Given the description of an element on the screen output the (x, y) to click on. 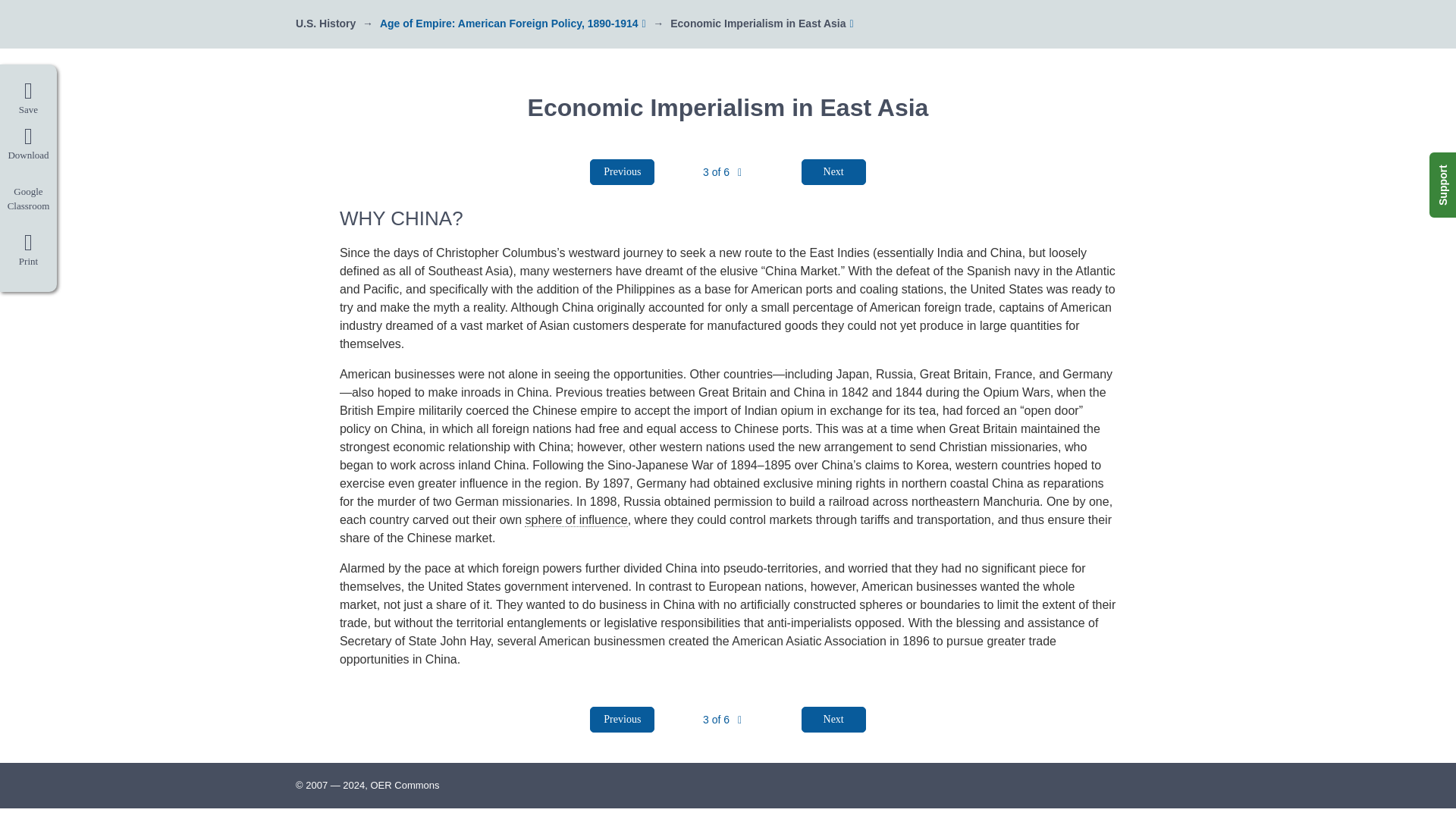
Next (834, 171)
Age of Empire: American Foreign Policy, 1890-1914 (509, 23)
Download (28, 144)
Previous (621, 719)
Previous (621, 171)
